Given the description of an element on the screen output the (x, y) to click on. 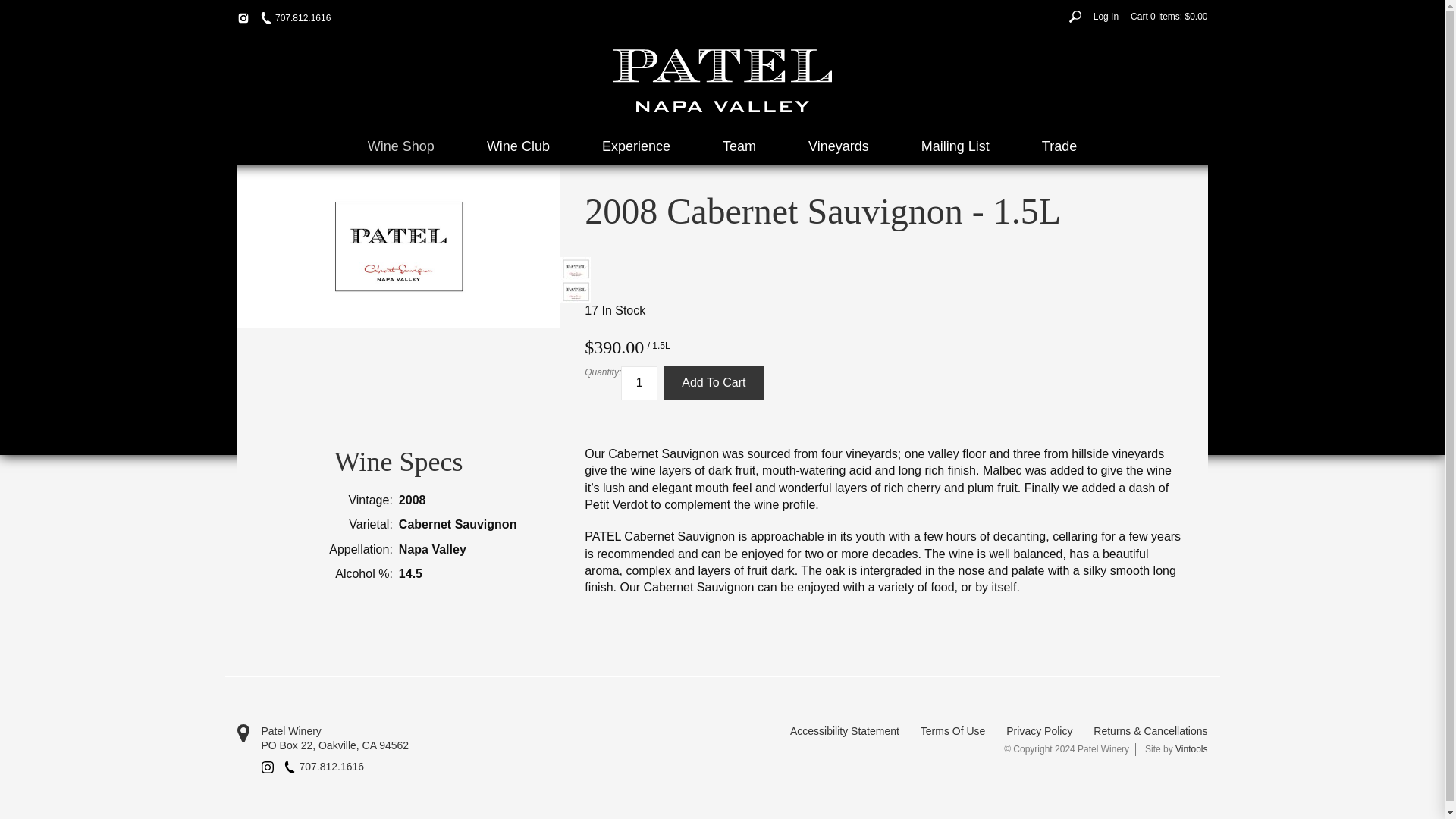
707.812.1616 (323, 767)
Wine Shop (400, 146)
Trade (1058, 146)
PO Box 22, Oakville, CA 94562 (478, 745)
Vineyards (838, 146)
Privacy Policy (1039, 731)
1 (639, 383)
Mailing List (954, 146)
Log In (1105, 16)
Patel Winery (478, 731)
